Given the description of an element on the screen output the (x, y) to click on. 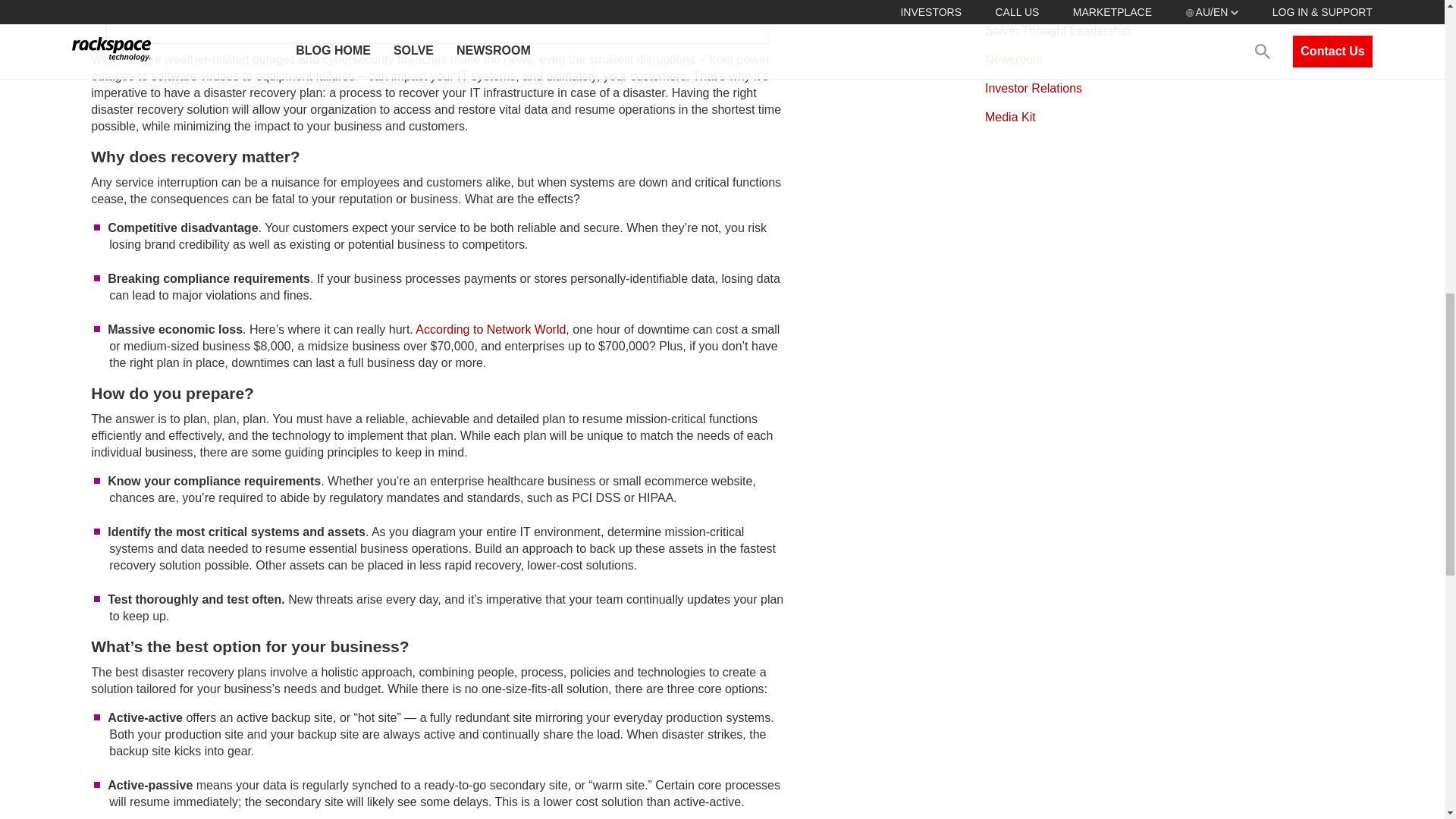
Blog Home (1015, 4)
According to Network World (490, 328)
Newsroom (1013, 59)
Investor Relations (1033, 88)
Solve: Thought Leadership (1057, 30)
